Given the description of an element on the screen output the (x, y) to click on. 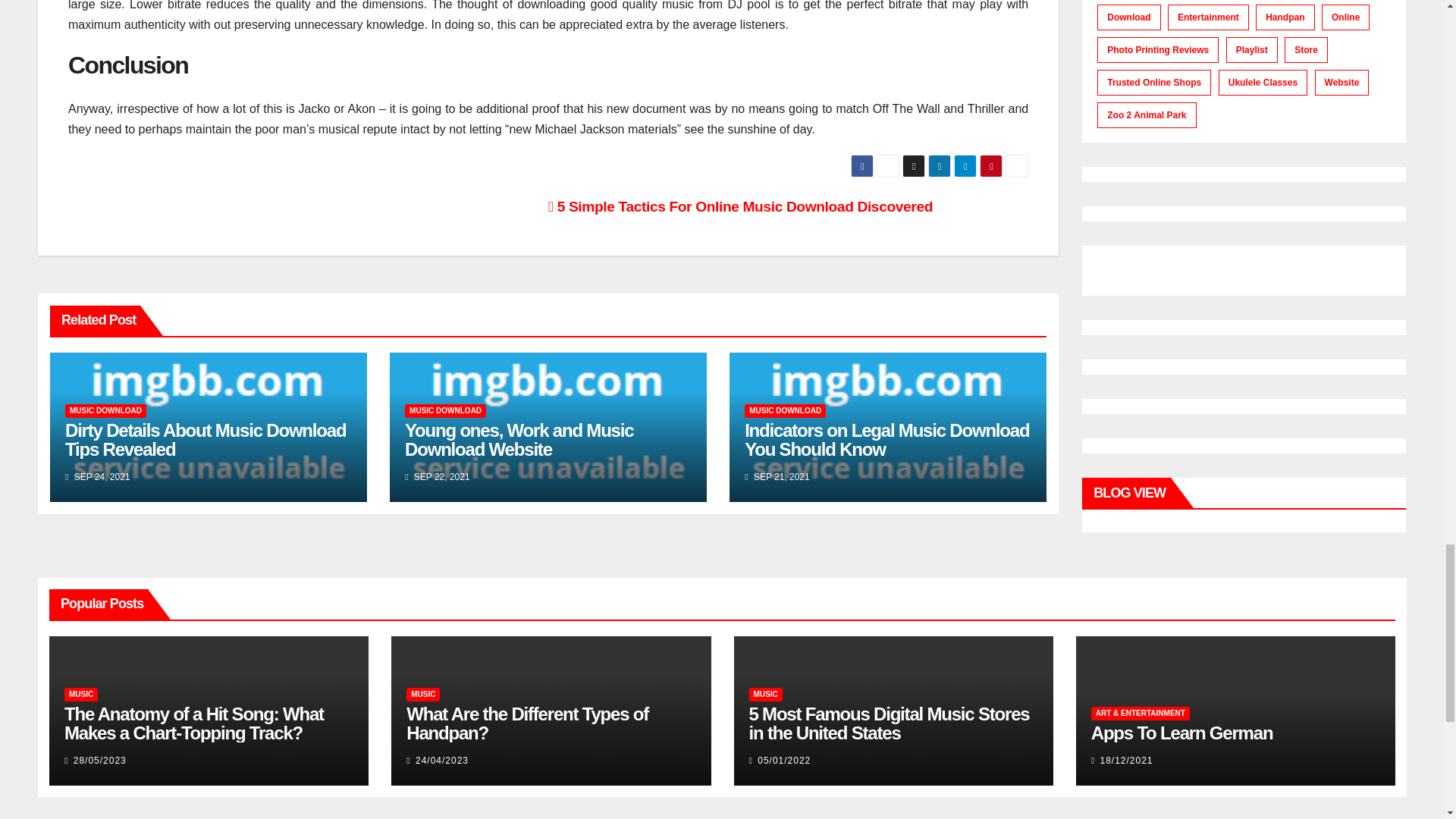
Permalink to: Young ones, Work and Music Download Website (518, 439)
Young ones, Work and Music Download Website (518, 439)
Indicators on Legal Music Download You Should Know (886, 439)
Permalink to: What Are the Different Types of Handpan? (526, 722)
Dirty Details About Music Download Tips Revealed (205, 439)
MUSIC DOWNLOAD (445, 410)
MUSIC DOWNLOAD (106, 410)
5 Simple Tactics For Online Music Download Discovered (740, 206)
Permalink to: Apps To Learn German (1181, 732)
MUSIC DOWNLOAD (784, 410)
